Given the description of an element on the screen output the (x, y) to click on. 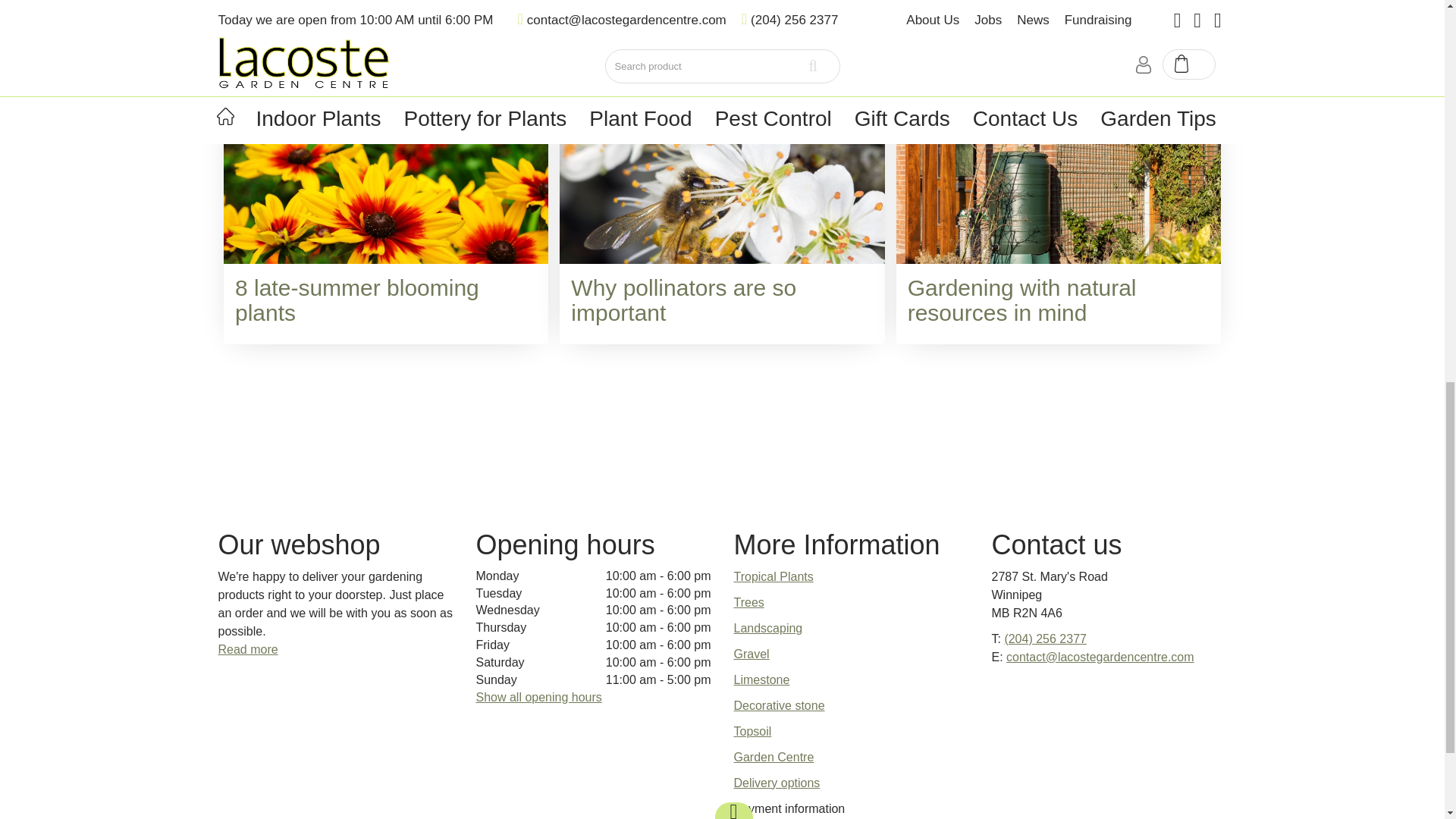
Show all opening hours (539, 697)
Gardening with natural resources in mind (1022, 300)
Tropical Plants (773, 576)
Why pollinators are so important (683, 300)
Trees (748, 602)
Read more (248, 649)
8 late-summer blooming plants (356, 300)
Landscaping (768, 627)
